Given the description of an element on the screen output the (x, y) to click on. 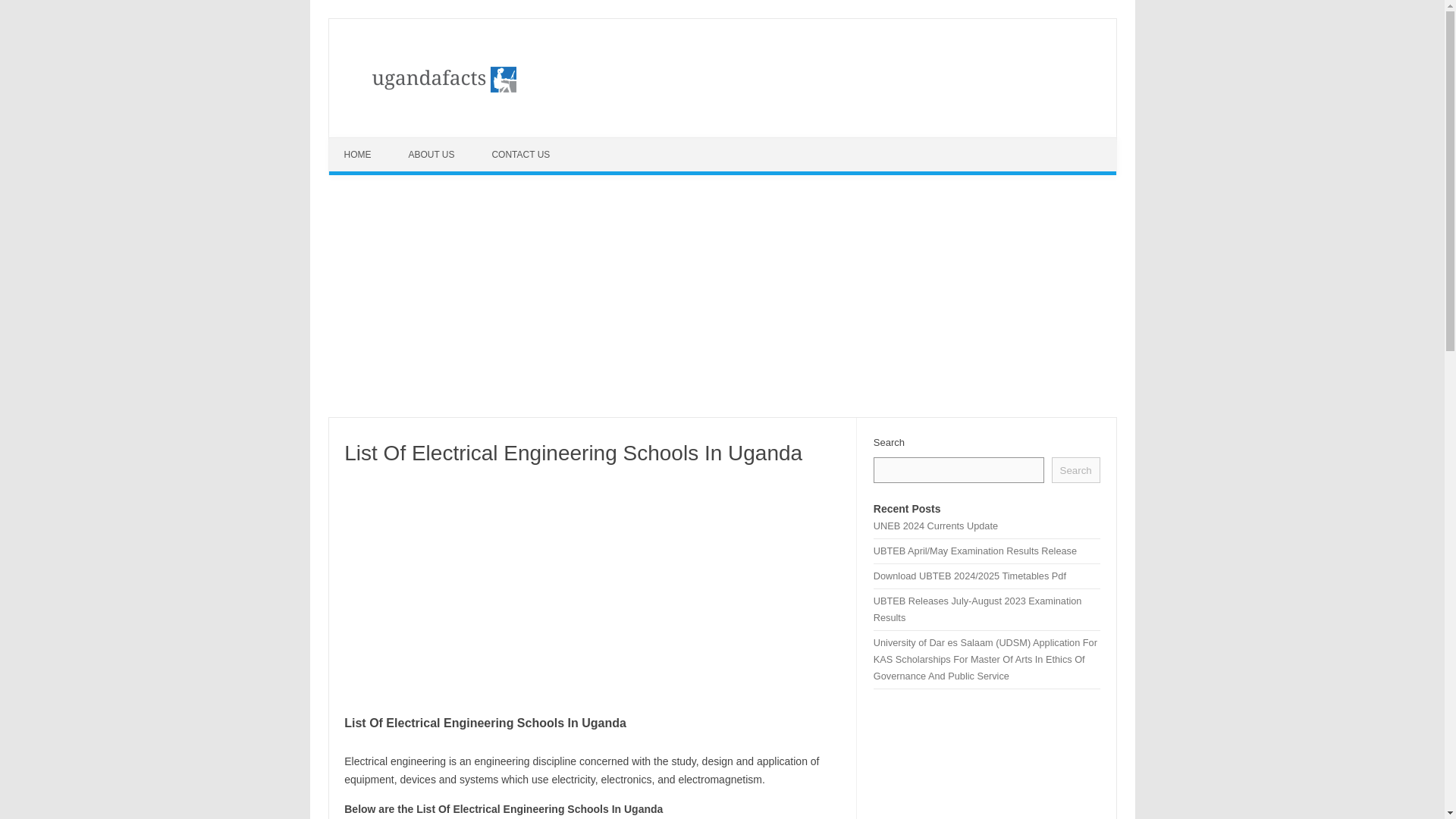
UBTEB Releases July-August 2023 Examination Results (977, 609)
CONTACT US (522, 154)
HOME (359, 154)
UNEB 2024 Currents Update (935, 525)
Advertisement (591, 587)
Search (1075, 470)
Skip to content (363, 142)
Skip to content (363, 142)
ABOUT US (433, 154)
